Given the description of an element on the screen output the (x, y) to click on. 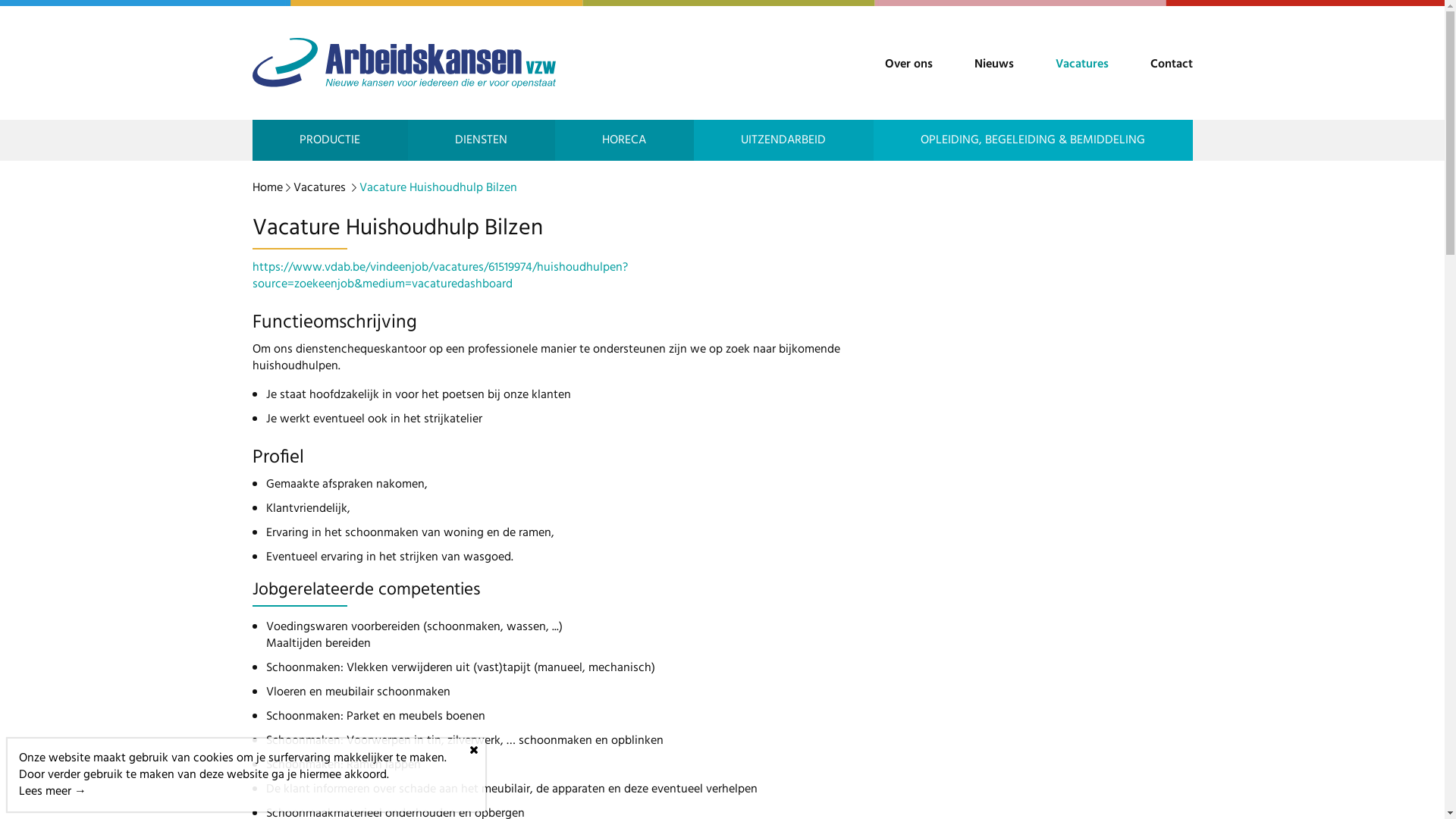
sluiten Element type: text (473, 749)
Contact Element type: text (1170, 64)
DIENSTEN Element type: text (481, 139)
Nieuws Element type: text (993, 64)
PRODUCTIE Element type: text (329, 139)
OPLEIDING, BEGELEIDING & BEMIDDELING Element type: text (1032, 139)
Vacature Huishoudhulp Bilzen Element type: text (438, 187)
HORECA Element type: text (624, 139)
Home Element type: text (266, 187)
UITZENDARBEID Element type: text (782, 139)
Over ons Element type: text (907, 64)
Vacatures Element type: text (1081, 64)
Vacatures Element type: text (318, 187)
